Given the description of an element on the screen output the (x, y) to click on. 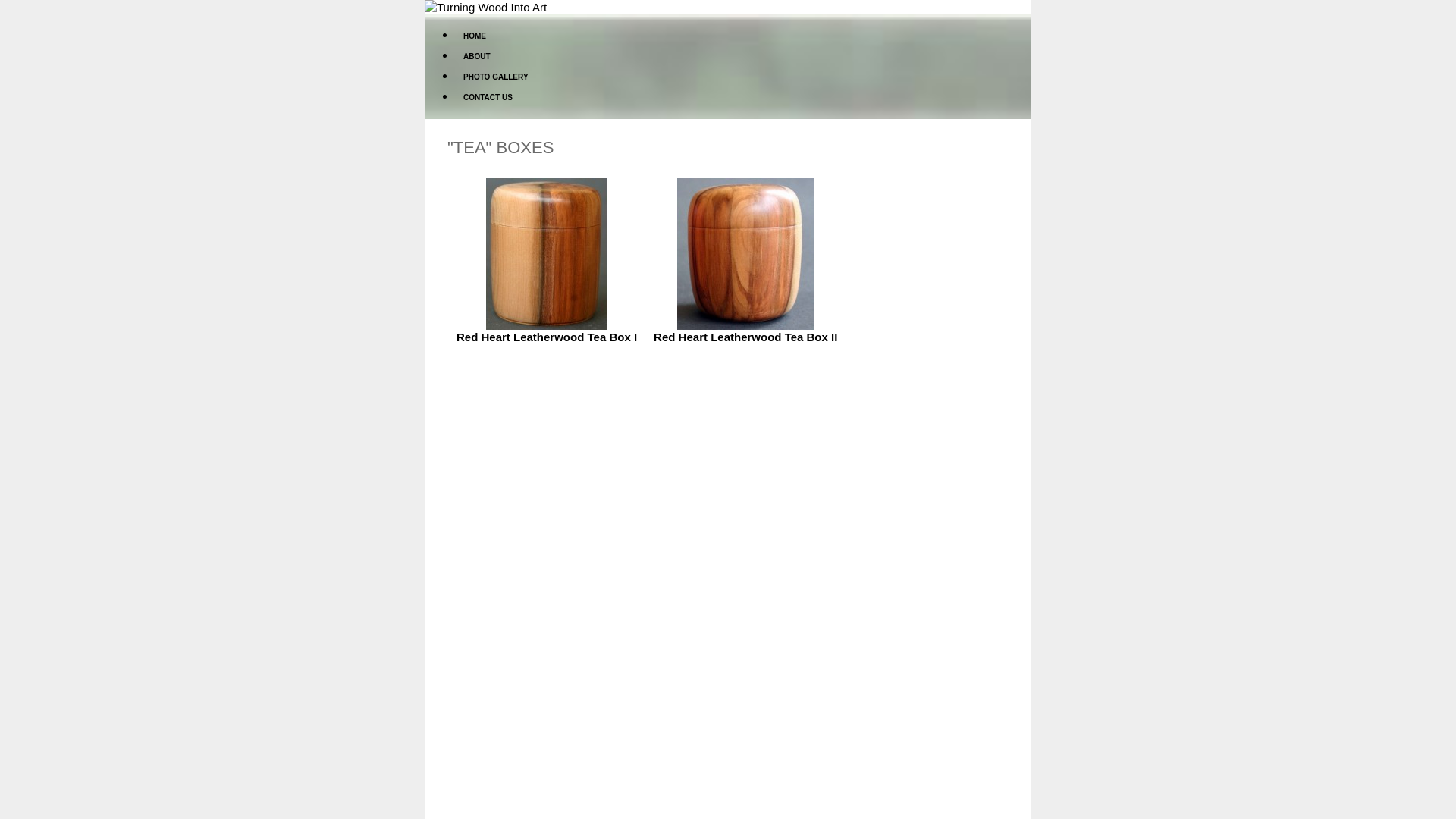
PHOTO GALLERY (495, 76)
HOME (474, 35)
CONTACT US (487, 97)
ABOUT (476, 56)
